Given the description of an element on the screen output the (x, y) to click on. 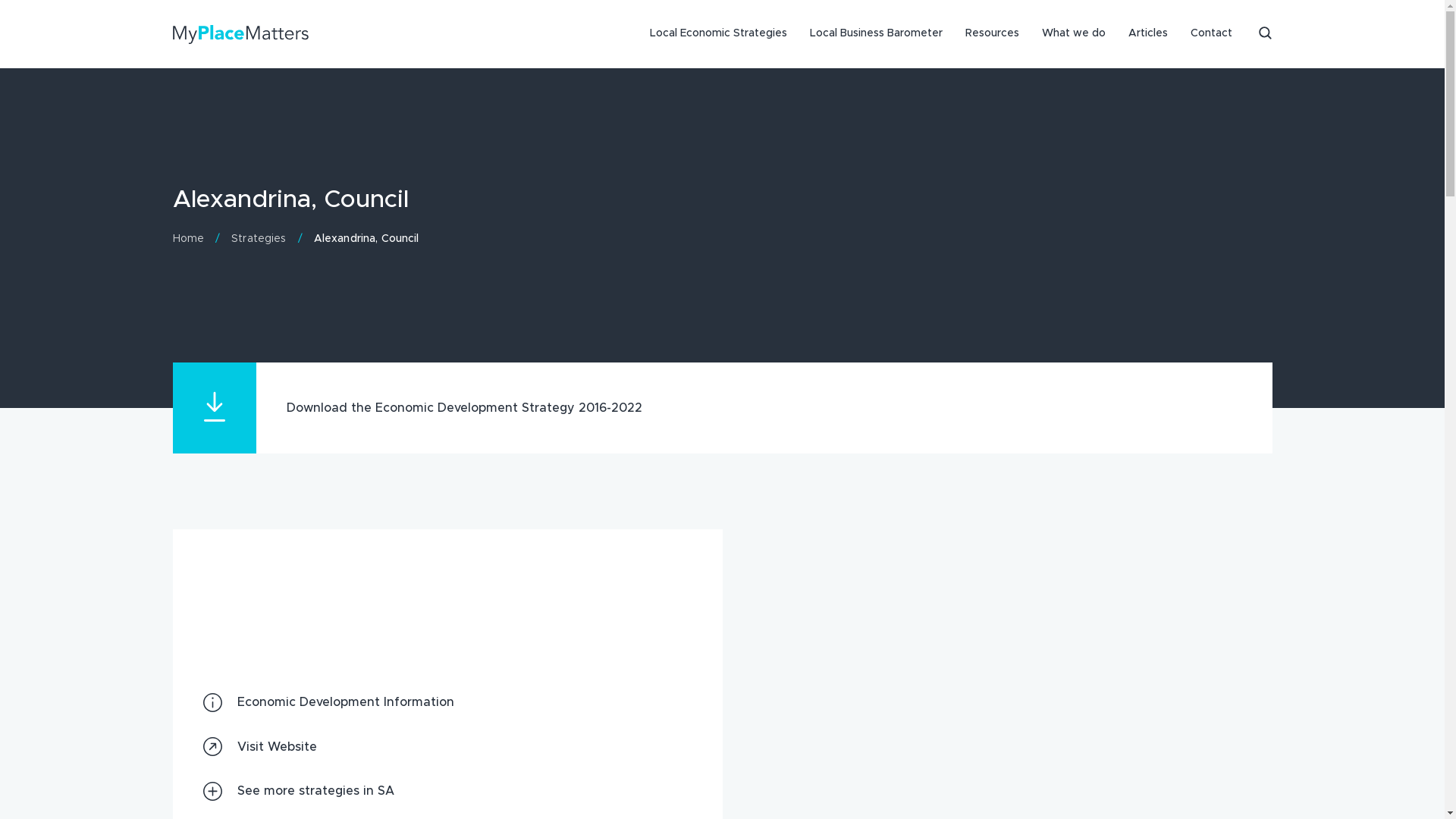
Resources Element type: text (991, 34)
Download the Economic Development Strategy 2016-2022 Element type: text (722, 407)
Local Economic Strategies Element type: text (718, 34)
Home Element type: text (188, 238)
What we do Element type: text (1072, 34)
Local Business Barometer Element type: text (875, 34)
Contact Element type: text (1210, 34)
Economic Development Information Element type: text (447, 702)
Visit Website Element type: text (447, 747)
See more strategies in SA Element type: text (447, 791)
Search Element type: text (1265, 34)
Strategies Element type: text (258, 238)
My Place Matters Element type: text (240, 34)
Articles Element type: text (1147, 34)
